Given the description of an element on the screen output the (x, y) to click on. 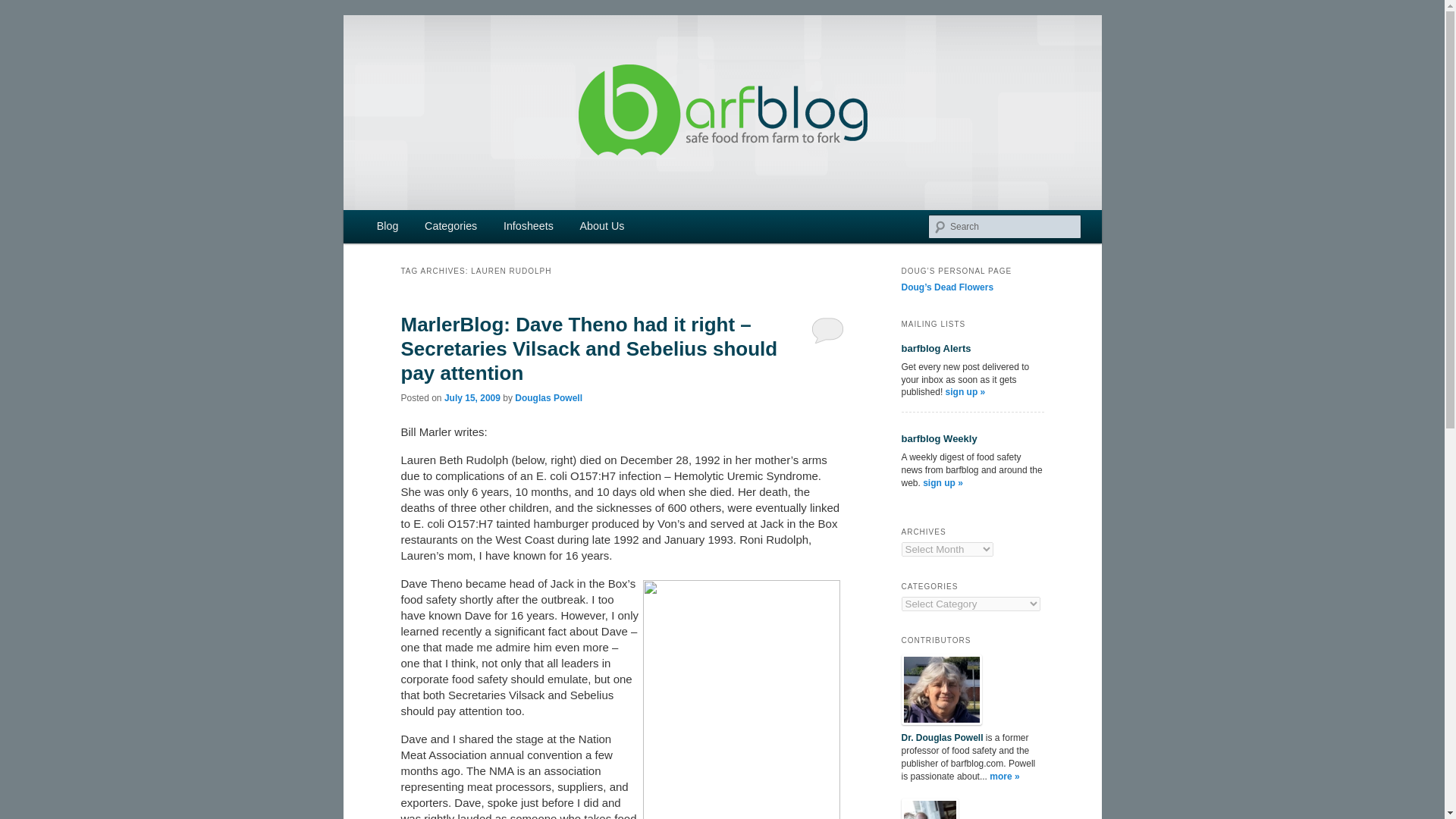
Categories (451, 225)
Skip to secondary content (421, 227)
Skip to primary content (414, 227)
View all posts by Douglas Powell (548, 398)
July 15, 2009 (472, 398)
Skip to primary content (414, 227)
Blog (388, 225)
Search (24, 8)
Douglas Powell (548, 398)
8:53 pm (472, 398)
barfblog (446, 69)
Infosheets (528, 225)
About Us (601, 225)
Skip to secondary content (421, 227)
barfblog (446, 69)
